Given the description of an element on the screen output the (x, y) to click on. 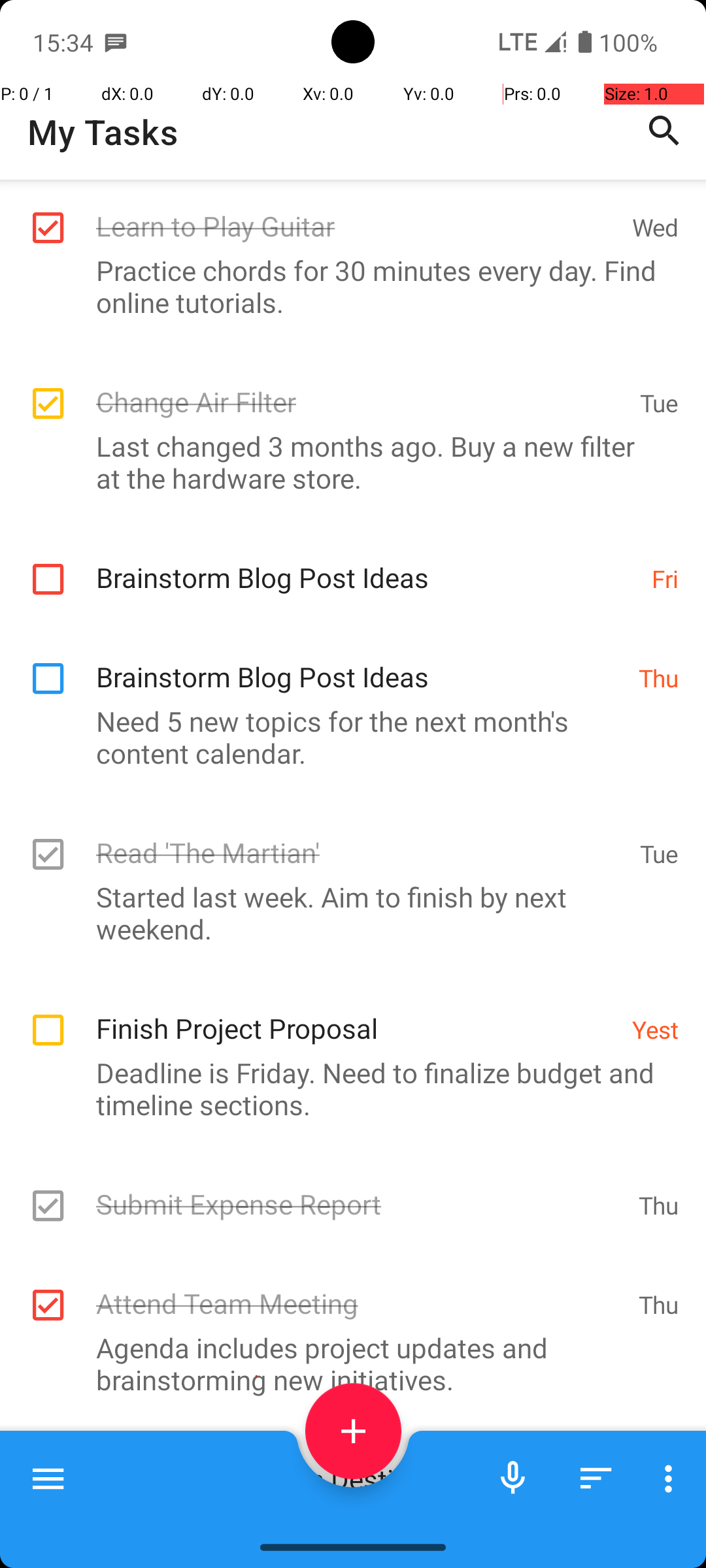
Practice chords for 30 minutes every day. Find online tutorials. Element type: android.widget.TextView (346, 285)
Last changed 3 months ago. Buy a new filter at the hardware store. Element type: android.widget.TextView (346, 461)
Need 5 new topics for the next month's content calendar. Element type: android.widget.TextView (346, 736)
Deadline is Friday. Need to finalize budget and timeline sections. Element type: android.widget.TextView (346, 1088)
